Given the description of an element on the screen output the (x, y) to click on. 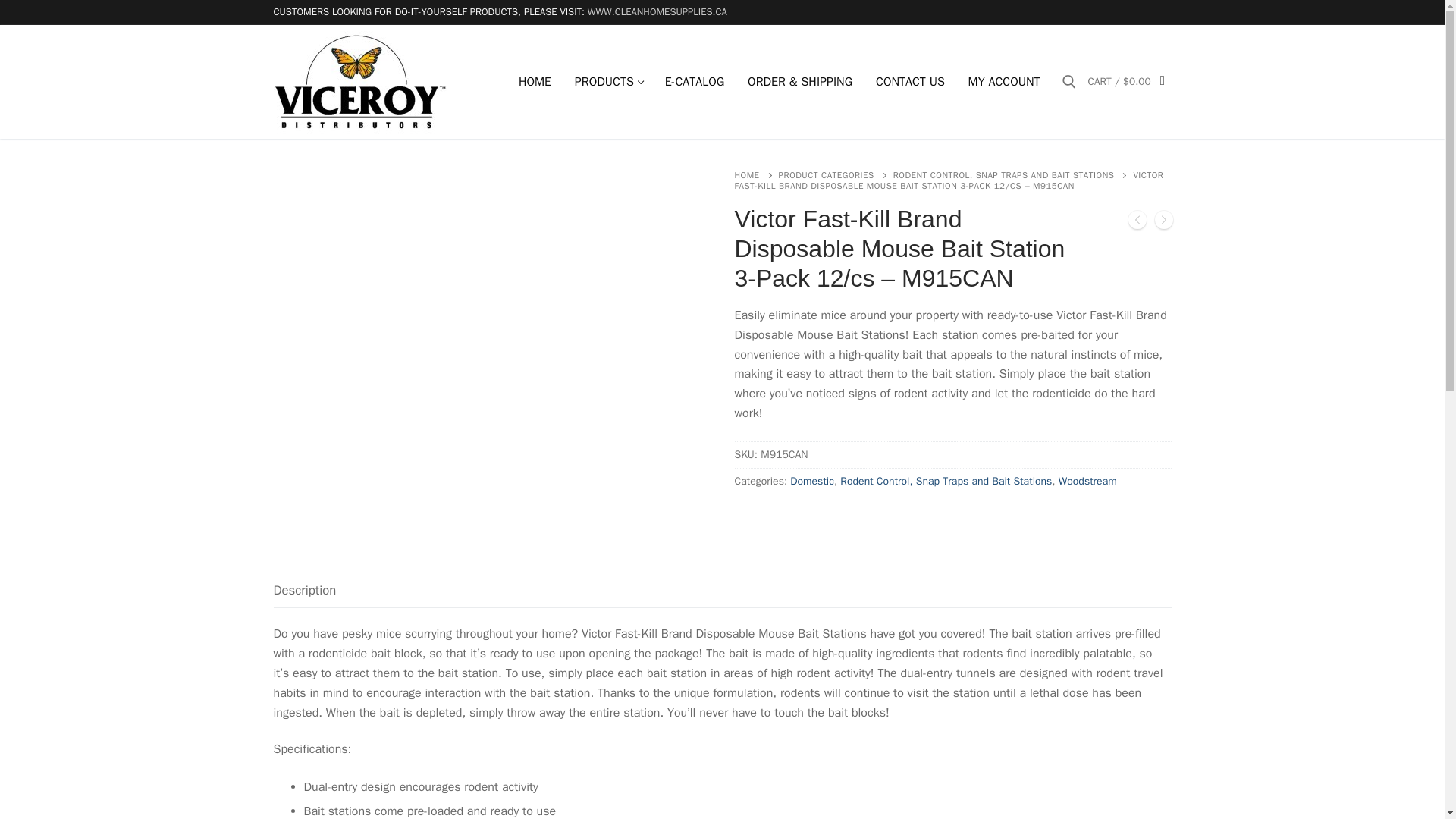
Woodstream (1087, 481)
CONTACT US (910, 81)
PRODUCT CATEGORIES (835, 174)
WWW.CLEANHOMESUPPLIES.CA (657, 11)
RODENT CONTROL, SNAP TRAPS AND BAIT STATIONS (1013, 174)
Domestic (812, 481)
HOME (755, 174)
HOME (607, 81)
Rodent Control, Snap Traps and Bait Stations (534, 81)
